Given the description of an element on the screen output the (x, y) to click on. 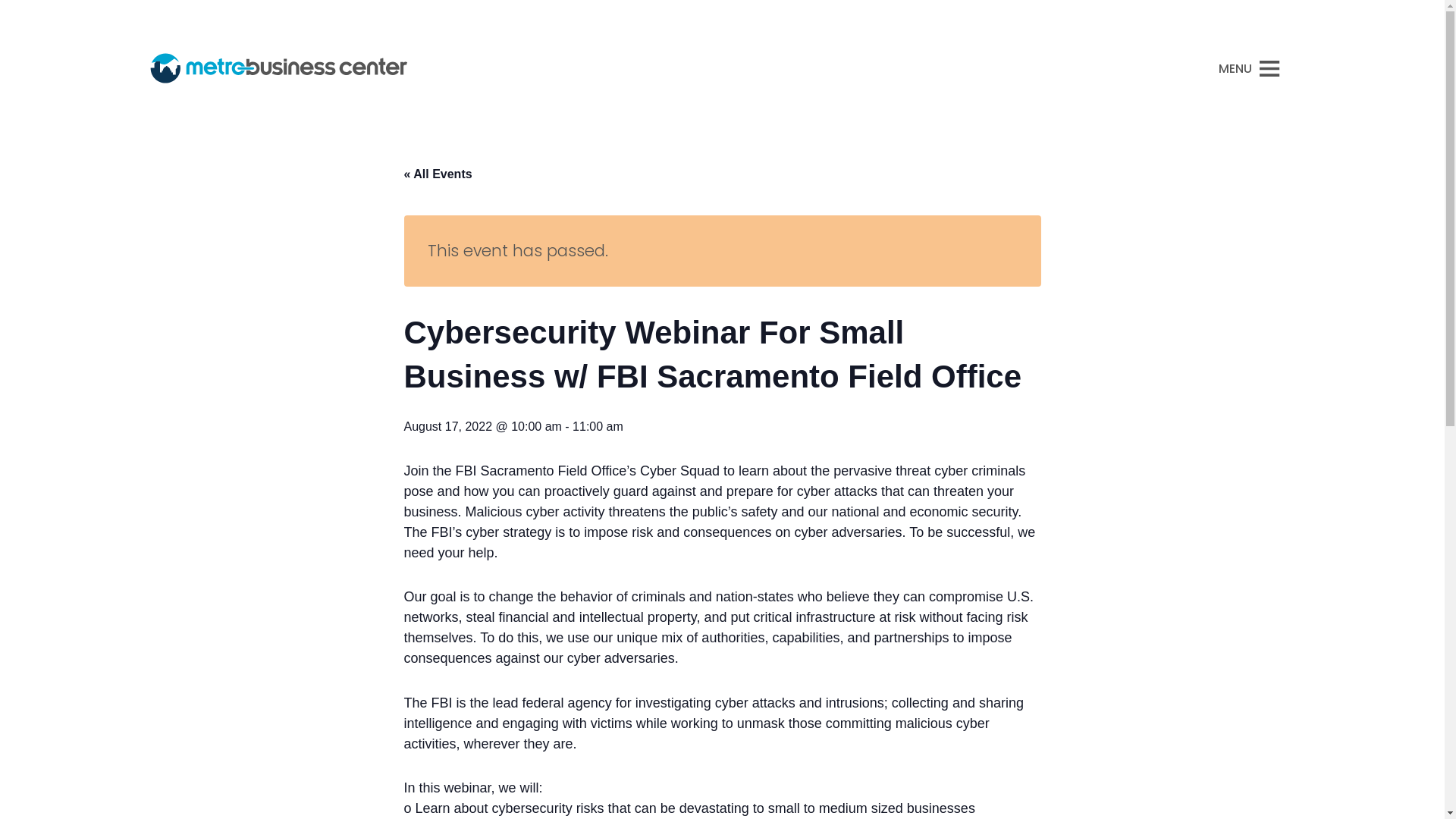
Open navigation (1248, 68)
